Given the description of an element on the screen output the (x, y) to click on. 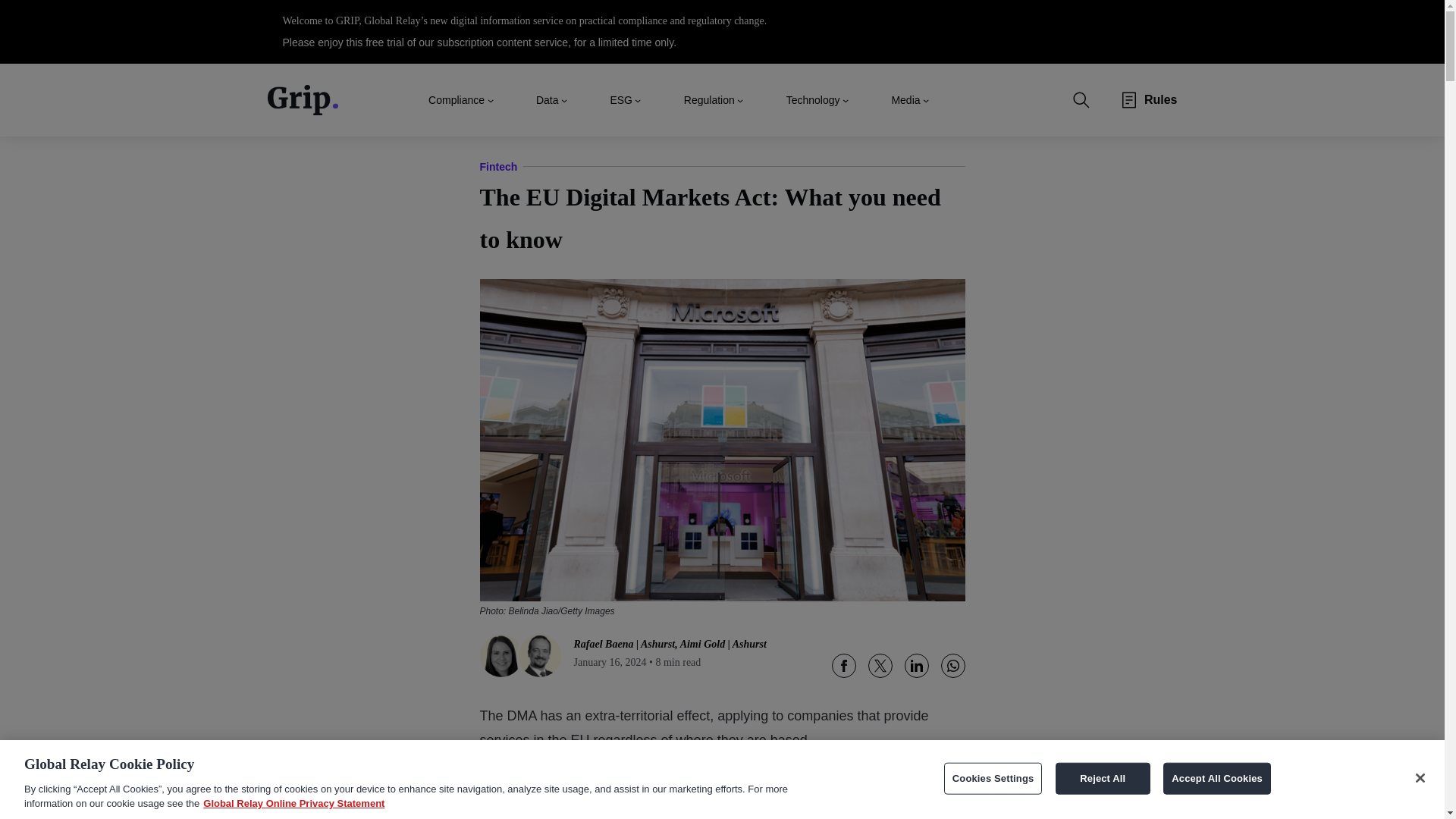
Media (905, 99)
Fintech (497, 167)
Technology (813, 99)
Rules (1160, 99)
Click to share on Facebook (843, 665)
Click to share on Twitter (879, 665)
Click to share on WhatsApp (951, 665)
Regulation (709, 99)
Click to share on LinkedIn (916, 665)
ESG (620, 99)
Data (547, 99)
Compliance (456, 99)
